Given the description of an element on the screen output the (x, y) to click on. 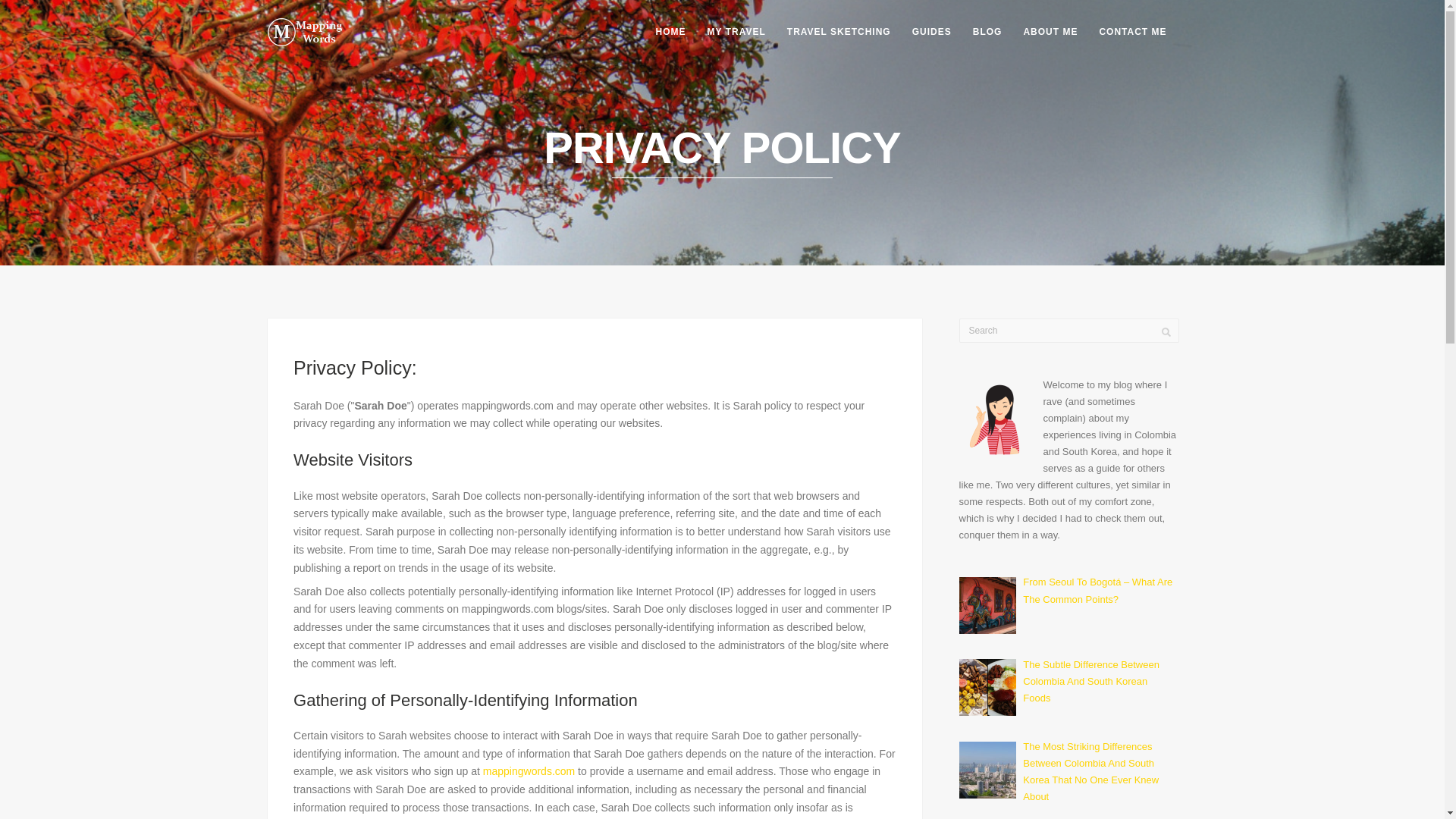
BLOG (987, 31)
CONTACT ME (1131, 31)
MY TRAVEL (736, 31)
mappingwords.com (529, 770)
TRAVEL SKETCHING (838, 31)
HOME (671, 31)
GUIDES (931, 31)
ABOUT ME (1049, 31)
